Given the description of an element on the screen output the (x, y) to click on. 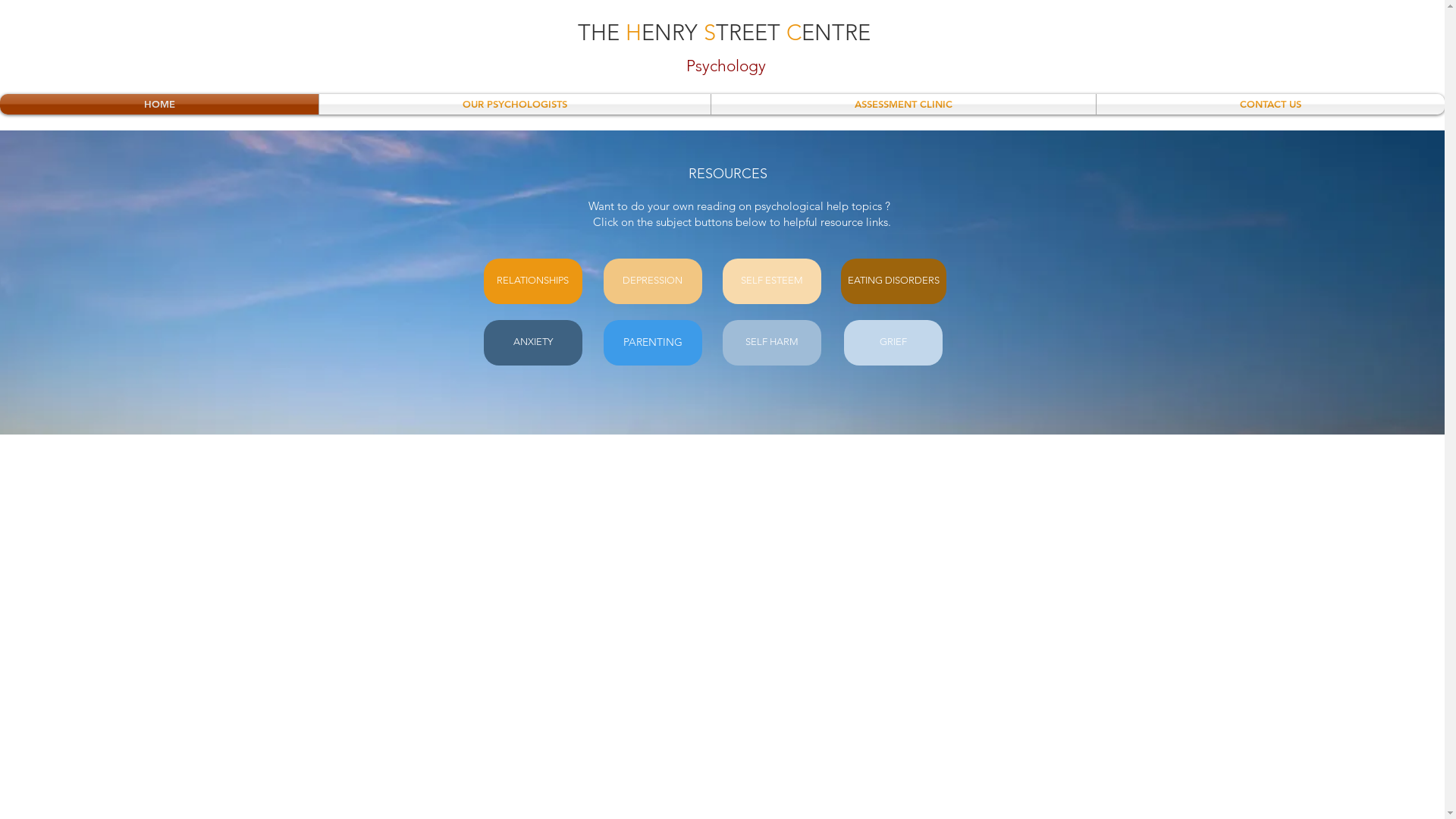
SELF HARM Element type: text (770, 342)
CONTACT US Element type: text (1270, 104)
DEPRESSION Element type: text (652, 281)
EATING DISORDERS Element type: text (892, 281)
GRIEF Element type: text (892, 342)
PARENTING Element type: text (652, 342)
RELATIONSHIPS Element type: text (532, 281)
SELF ESTEEM Element type: text (770, 281)
OUR PSYCHOLOGISTS Element type: text (514, 104)
HOME Element type: text (159, 104)
ASSESSMENT CLINIC Element type: text (903, 104)
ANXIETY Element type: text (532, 342)
